Given the description of an element on the screen output the (x, y) to click on. 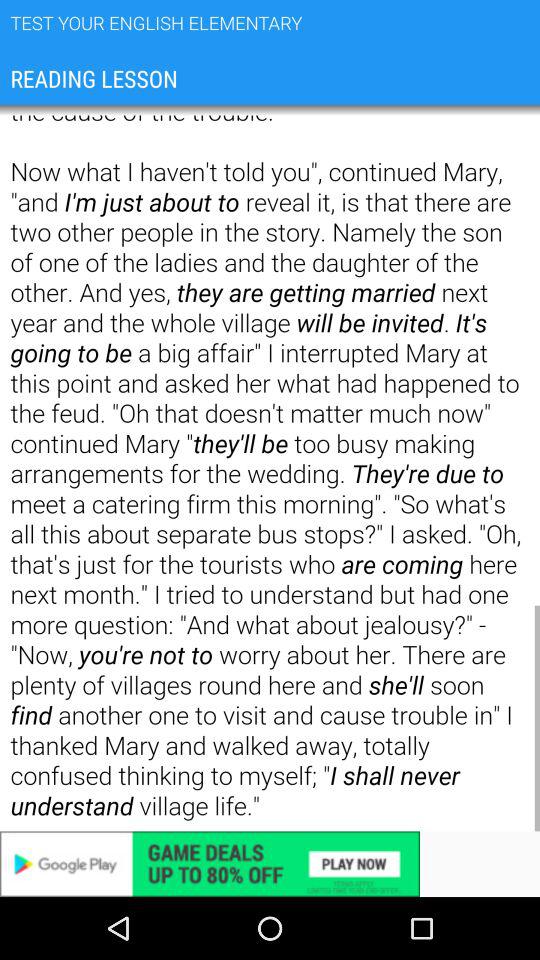
variable advertisement (270, 864)
